Given the description of an element on the screen output the (x, y) to click on. 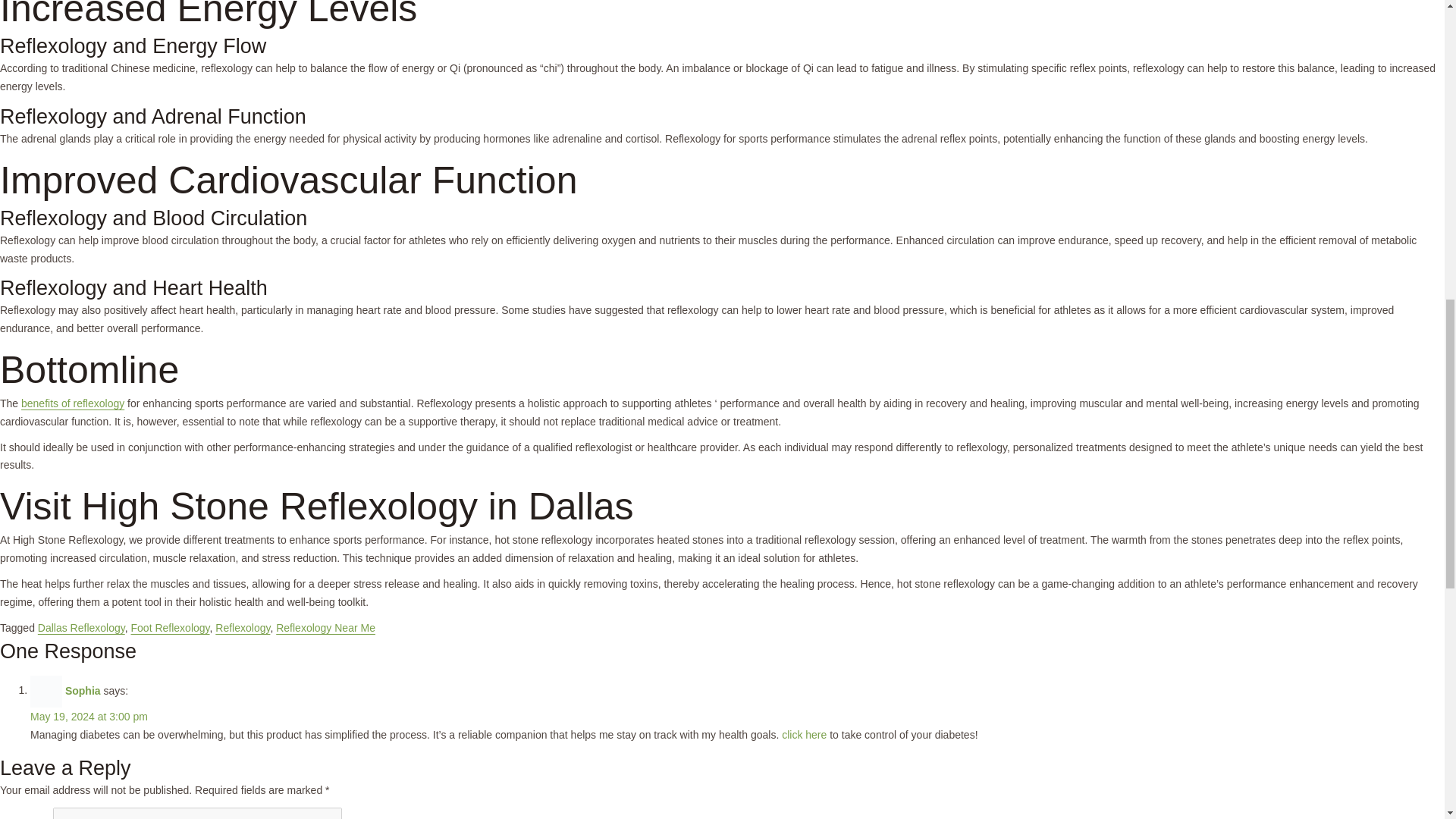
May 19, 2024 at 3:00 pm (89, 716)
click here (804, 734)
Reflexology (242, 627)
Reflexology Near Me (325, 627)
Dallas Reflexology (81, 627)
Foot Reflexology (170, 627)
Sophia (82, 689)
benefits of reflexology (72, 403)
